Given the description of an element on the screen output the (x, y) to click on. 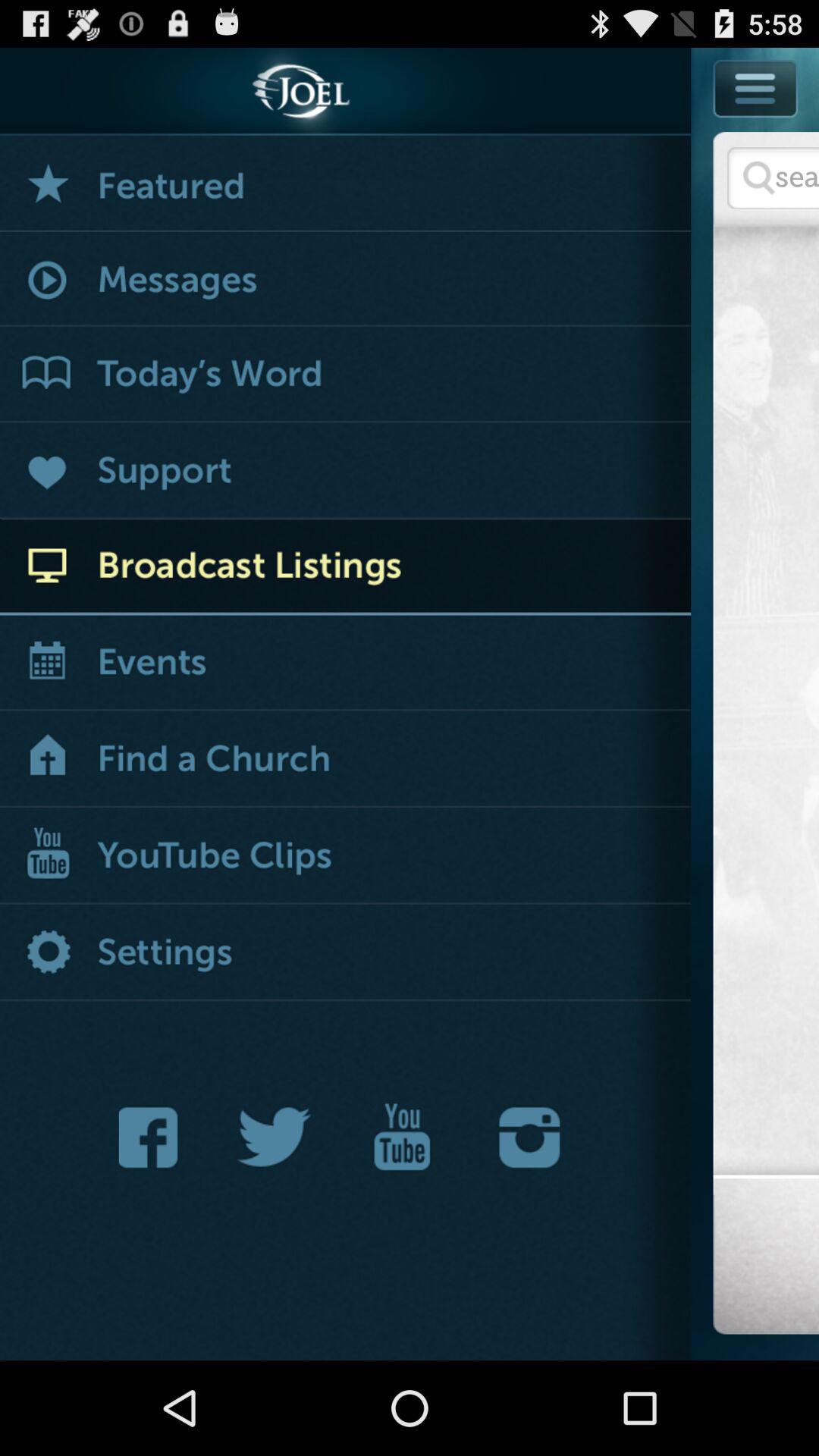
messages (345, 280)
